Given the description of an element on the screen output the (x, y) to click on. 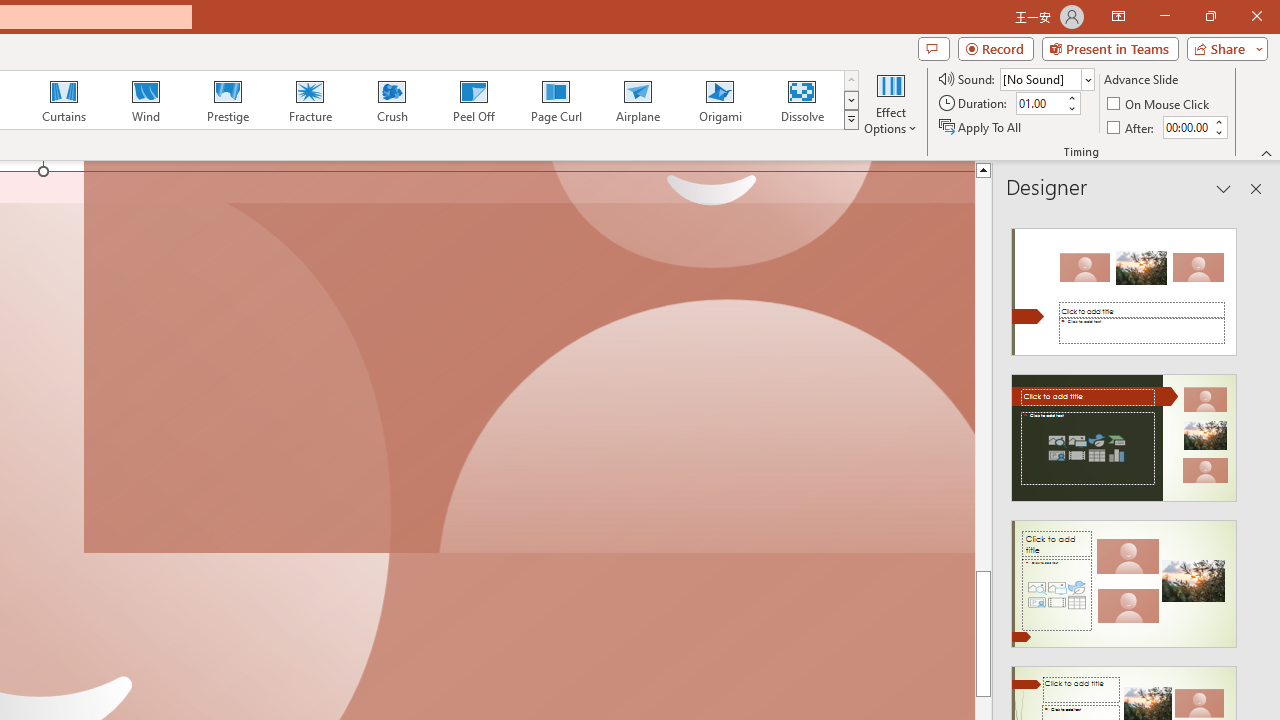
Apply To All (981, 126)
Effect Options (890, 102)
After (1186, 127)
Sound (1046, 78)
Airplane (637, 100)
Peel Off (473, 100)
Crush (391, 100)
